Given the description of an element on the screen output the (x, y) to click on. 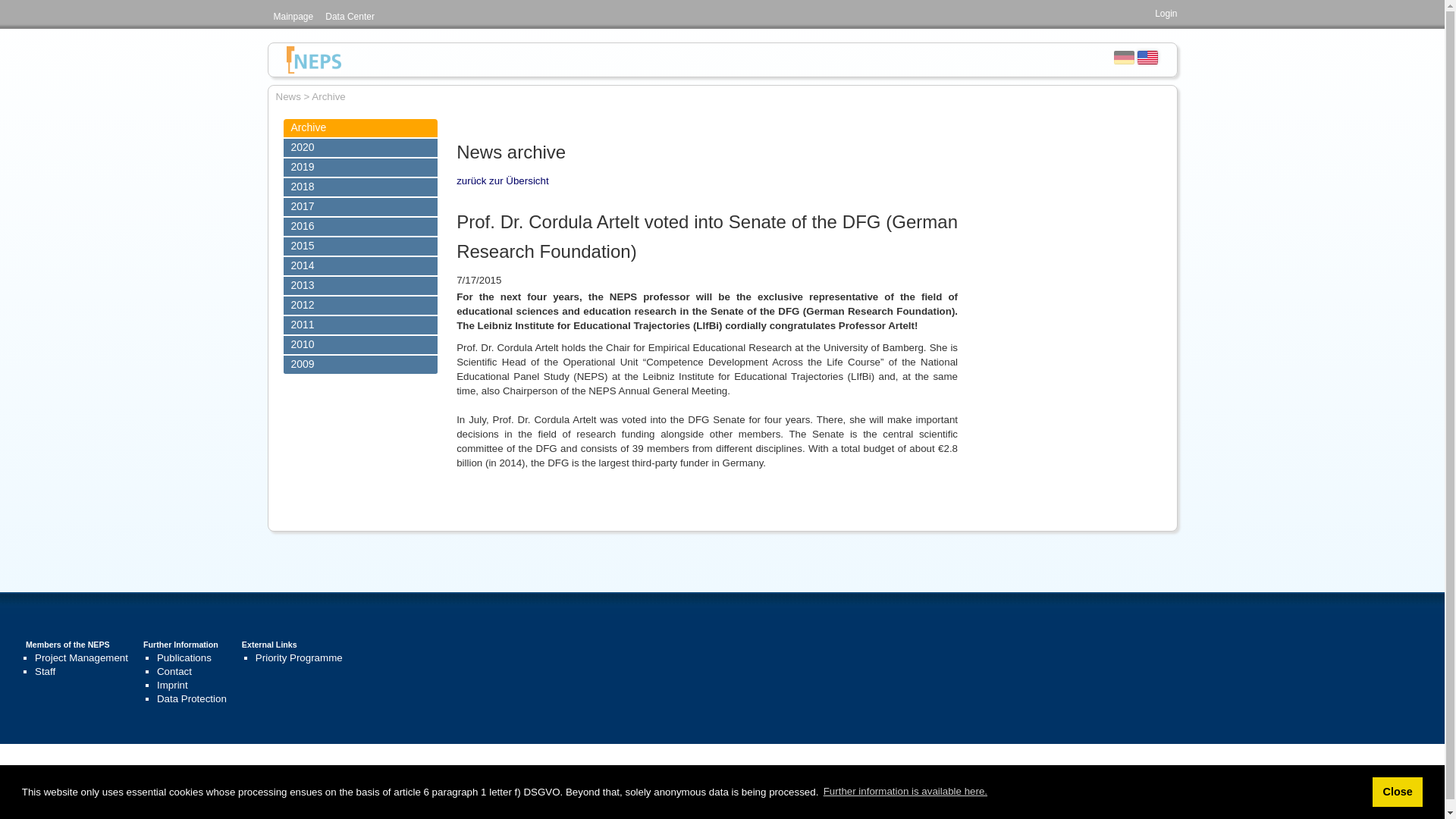
Close (1397, 791)
Mainpage (292, 17)
Login (1165, 13)
Data Center (349, 17)
Further information is available here. (905, 792)
